Given the description of an element on the screen output the (x, y) to click on. 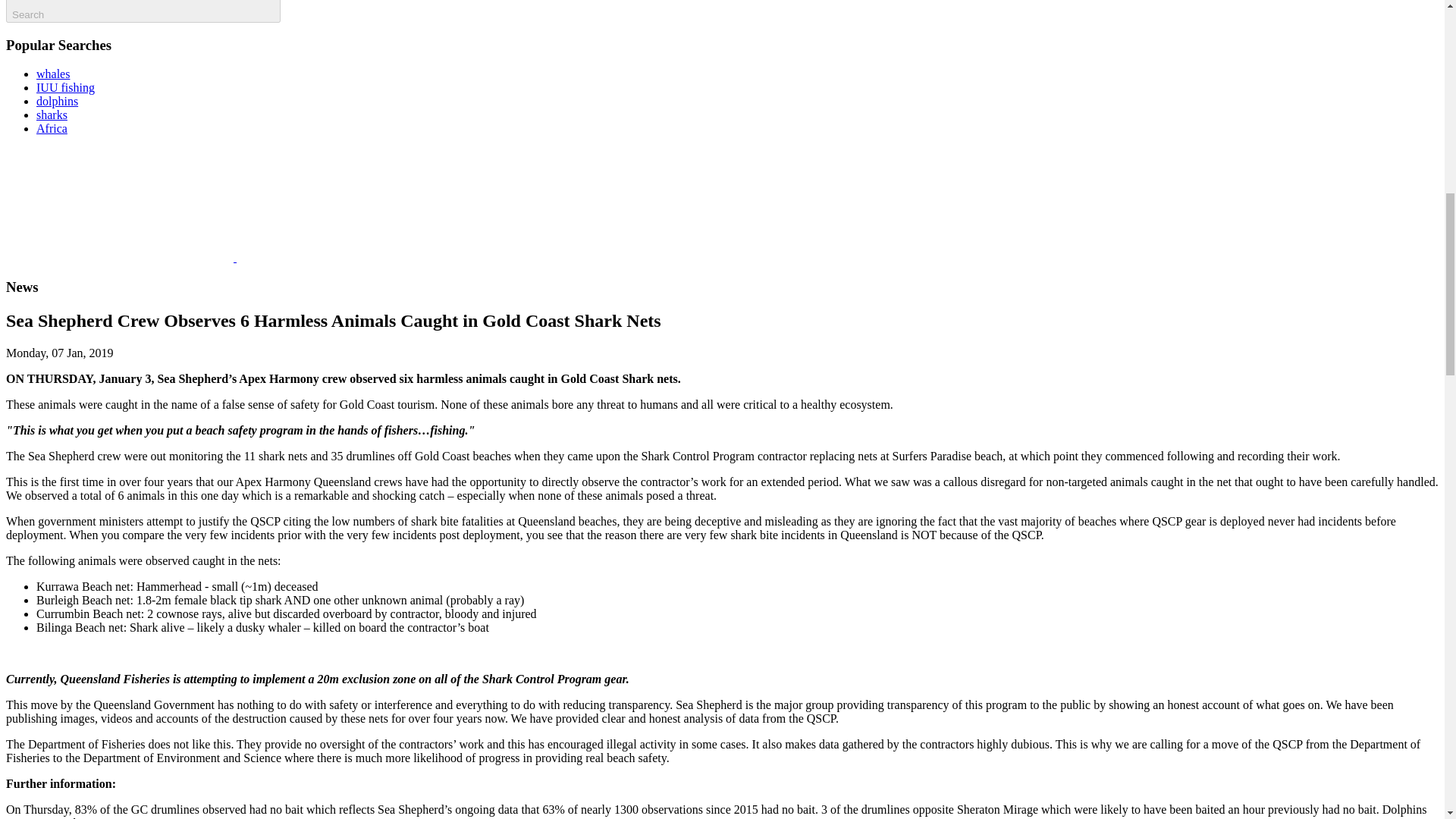
whales (52, 73)
sharks (51, 114)
Search (143, 11)
dolphins (57, 101)
Africa (51, 128)
IUU fishing (65, 87)
